Given the description of an element on the screen output the (x, y) to click on. 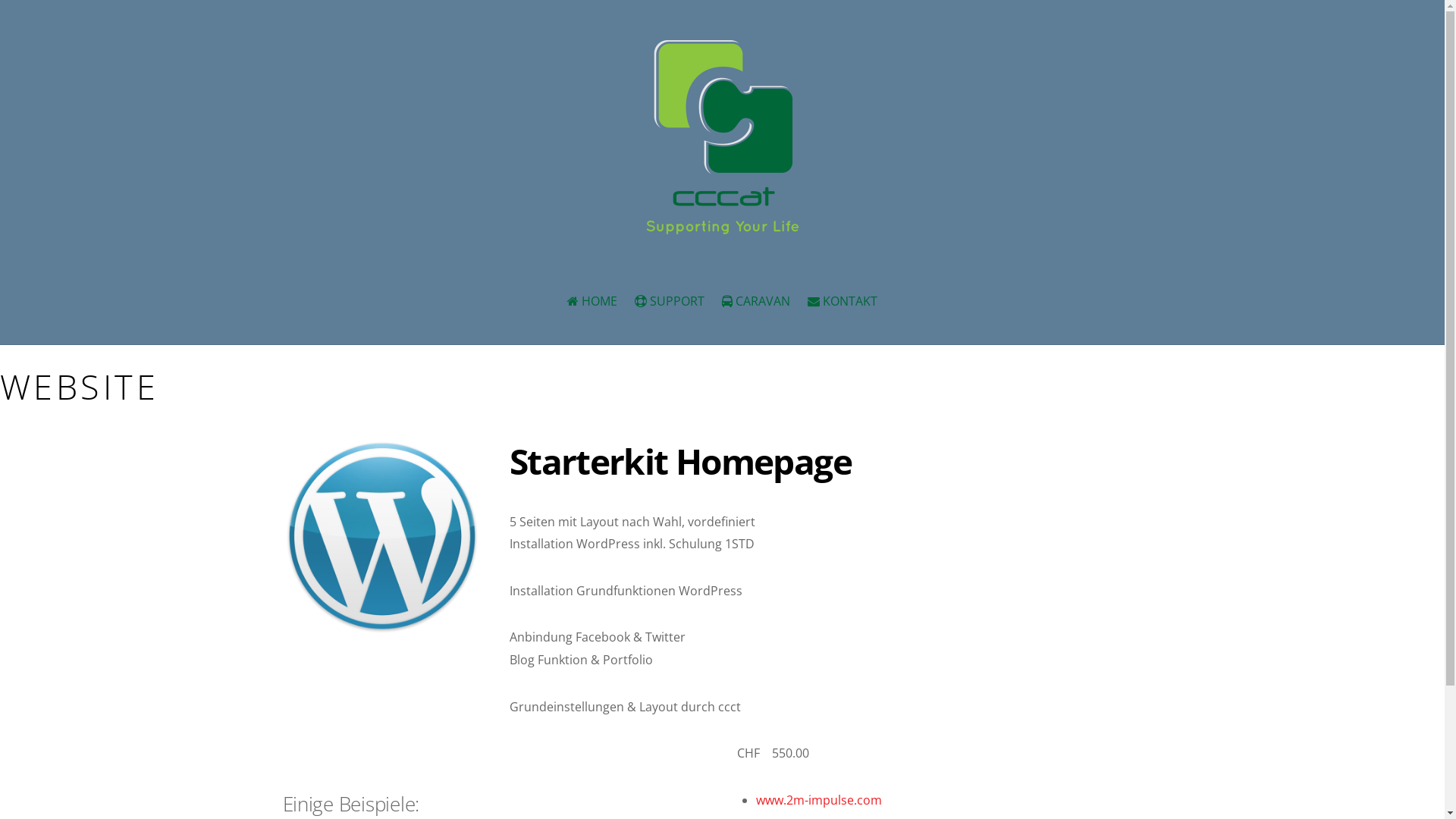
wordpress Element type: hover (381, 535)
CARAVAN Element type: text (755, 301)
CCCAT Element type: hover (721, 221)
www.2m-impulse.com Element type: text (818, 799)
HOME Element type: text (591, 301)
SUPPORT Element type: text (669, 301)
CCCAT Element type: hover (721, 137)
KONTAKT Element type: text (842, 301)
